Given the description of an element on the screen output the (x, y) to click on. 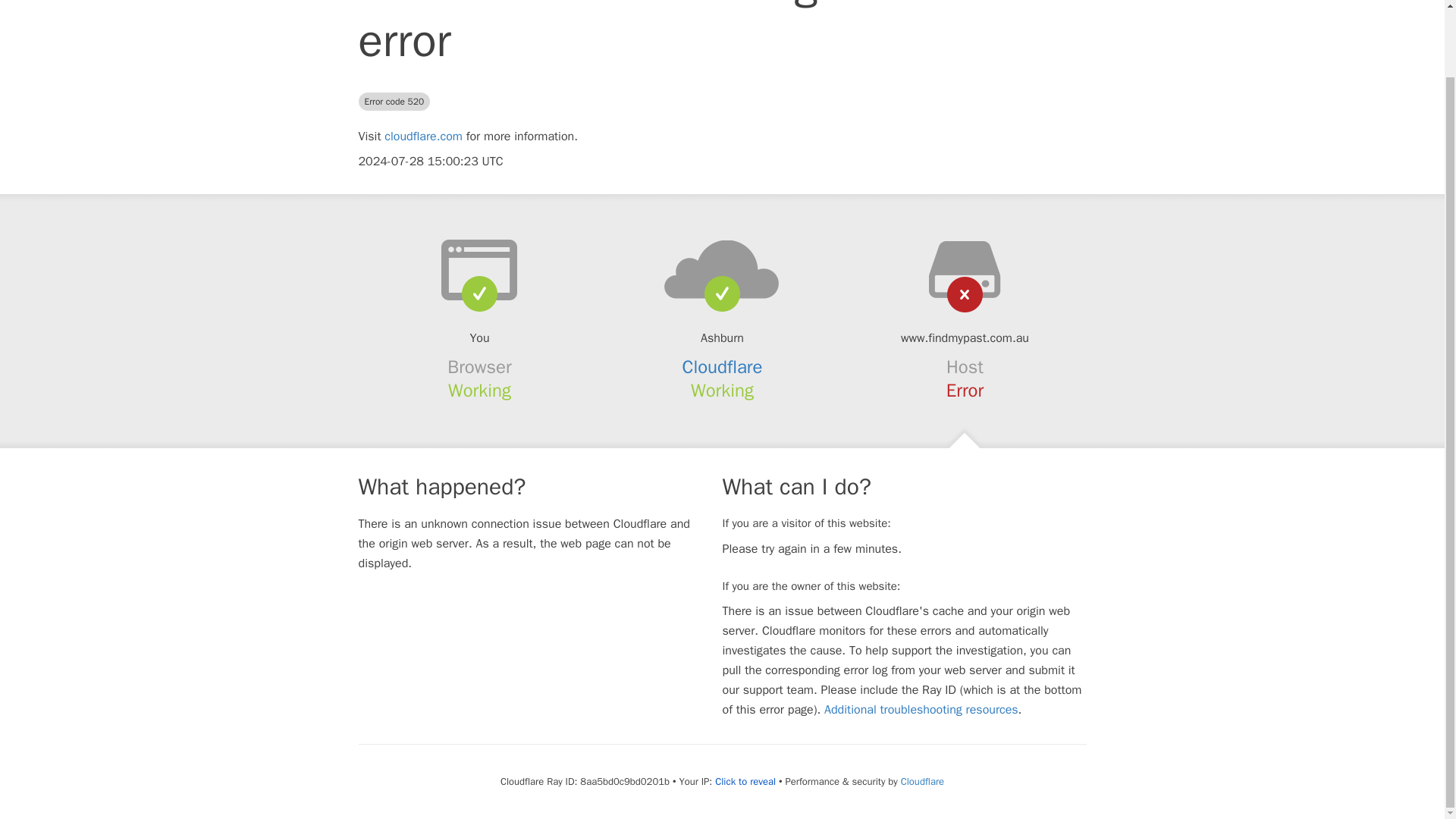
Cloudflare (722, 366)
Additional troubleshooting resources (920, 709)
cloudflare.com (423, 136)
Click to reveal (745, 781)
Cloudflare (922, 780)
